Given the description of an element on the screen output the (x, y) to click on. 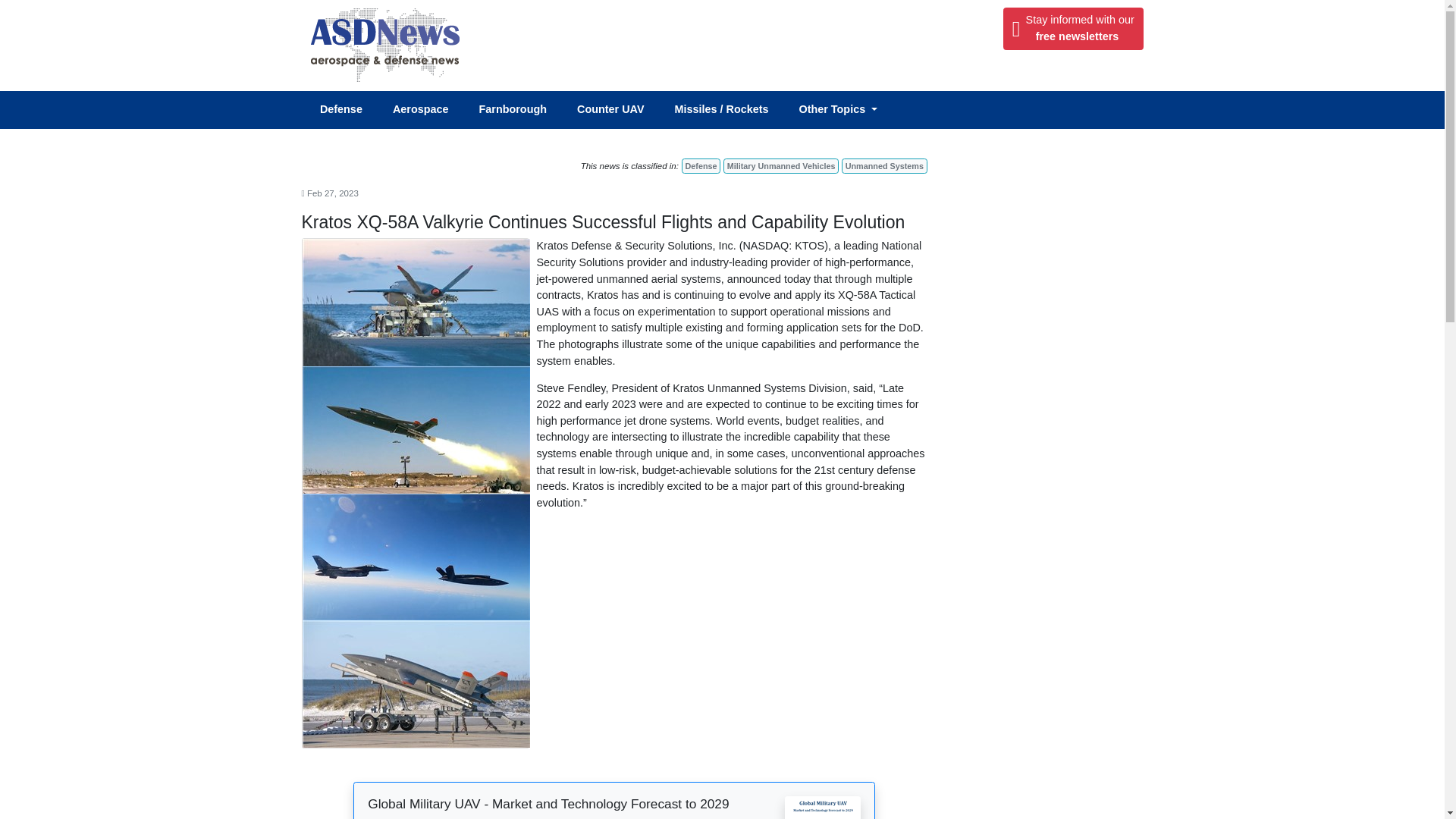
Counter UAV (617, 109)
Defense (349, 109)
Aerospace (428, 109)
Unmanned Systems (1072, 28)
Defense (883, 165)
Other Topics (700, 165)
Farnborough (844, 109)
Military Unmanned Vehicles (519, 109)
